Given the description of an element on the screen output the (x, y) to click on. 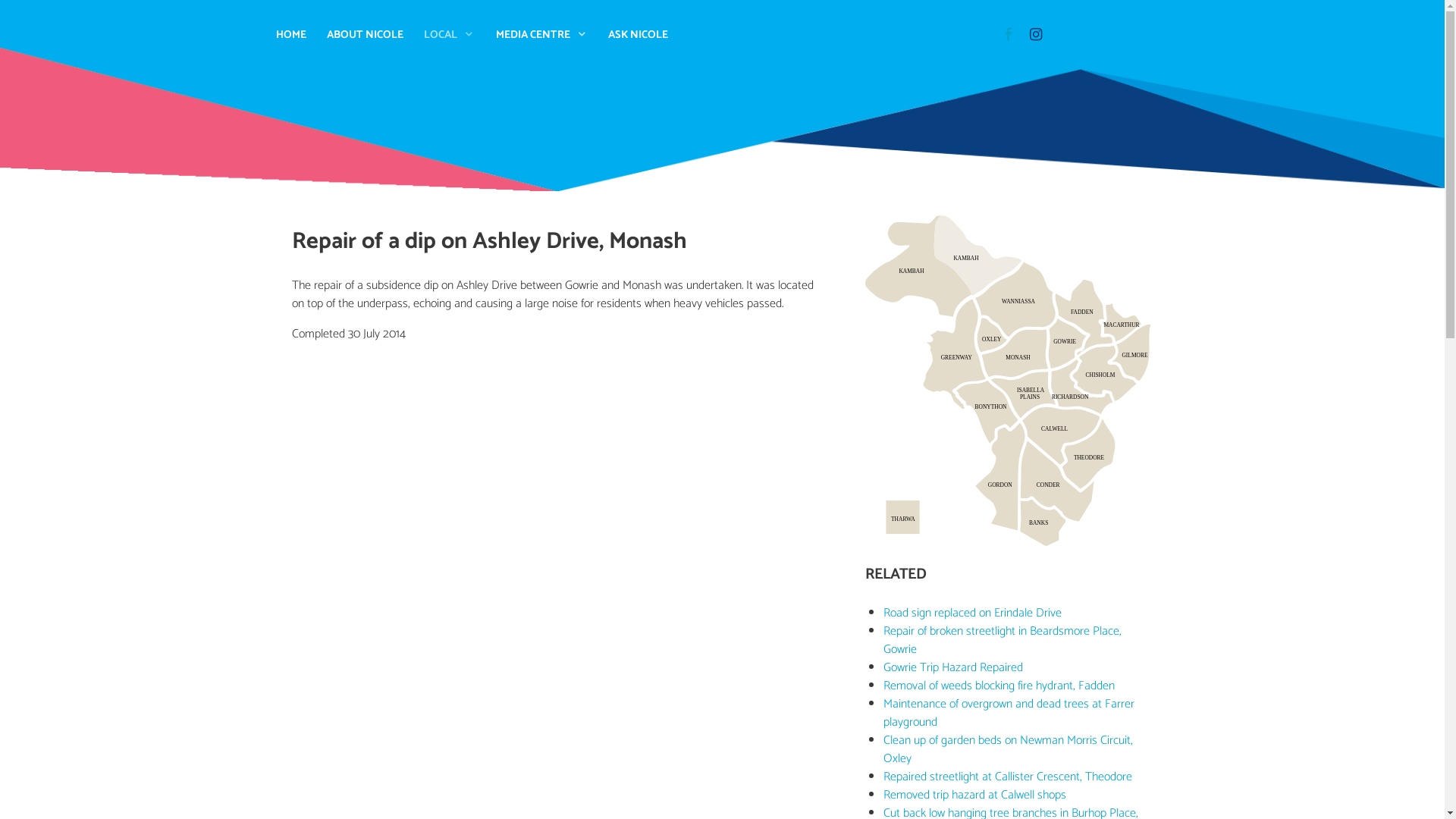
Repair of broken streetlight in Beardsmore Place, Gowrie Element type: text (1001, 640)
Road sign replaced on Erindale Drive Element type: text (971, 612)
ABOUT NICOLE Element type: text (364, 34)
Maintenance of overgrown and dead trees at Farrer playground Element type: text (1007, 712)
Repaired streetlight at Callister Crescent, Theodore Element type: text (1006, 776)
ASK NICOLE Element type: text (638, 34)
Removed trip hazard at Calwell shops Element type: text (973, 794)
Removal of weeds blocking fire hydrant, Fadden Element type: text (997, 685)
HOME Element type: text (291, 34)
Clean up of garden beds on Newman Morris Circuit, Oxley Element type: text (1007, 749)
Gowrie Trip Hazard Repaired Element type: text (952, 667)
